Given the description of an element on the screen output the (x, y) to click on. 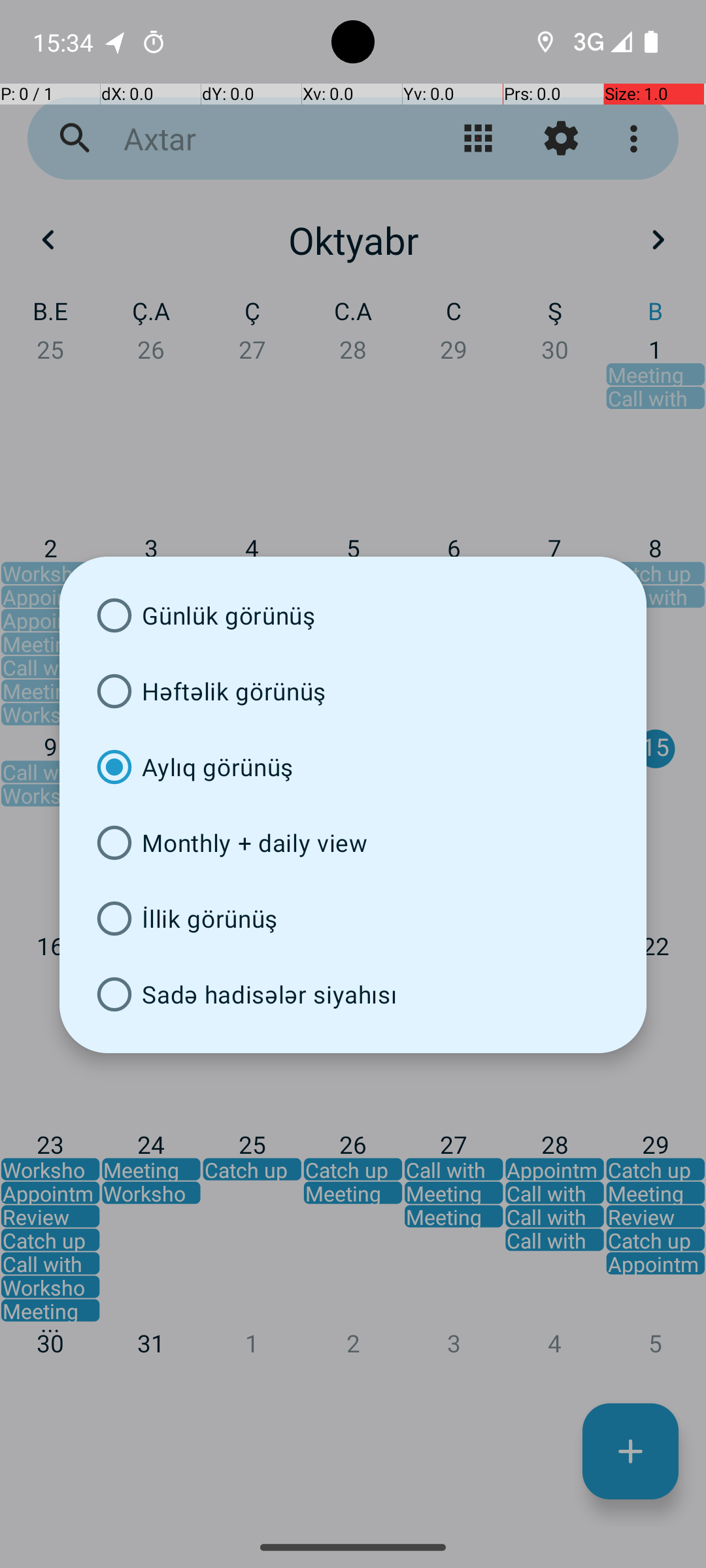
Günlük görünüş Element type: android.widget.RadioButton (352, 615)
Həftəlik görünüş Element type: android.widget.RadioButton (352, 691)
Aylıq görünüş Element type: android.widget.RadioButton (352, 766)
Monthly + daily view Element type: android.widget.RadioButton (352, 842)
İllik görünüş Element type: android.widget.RadioButton (352, 918)
Sadə hadisələr siyahısı Element type: android.widget.RadioButton (352, 994)
